Given the description of an element on the screen output the (x, y) to click on. 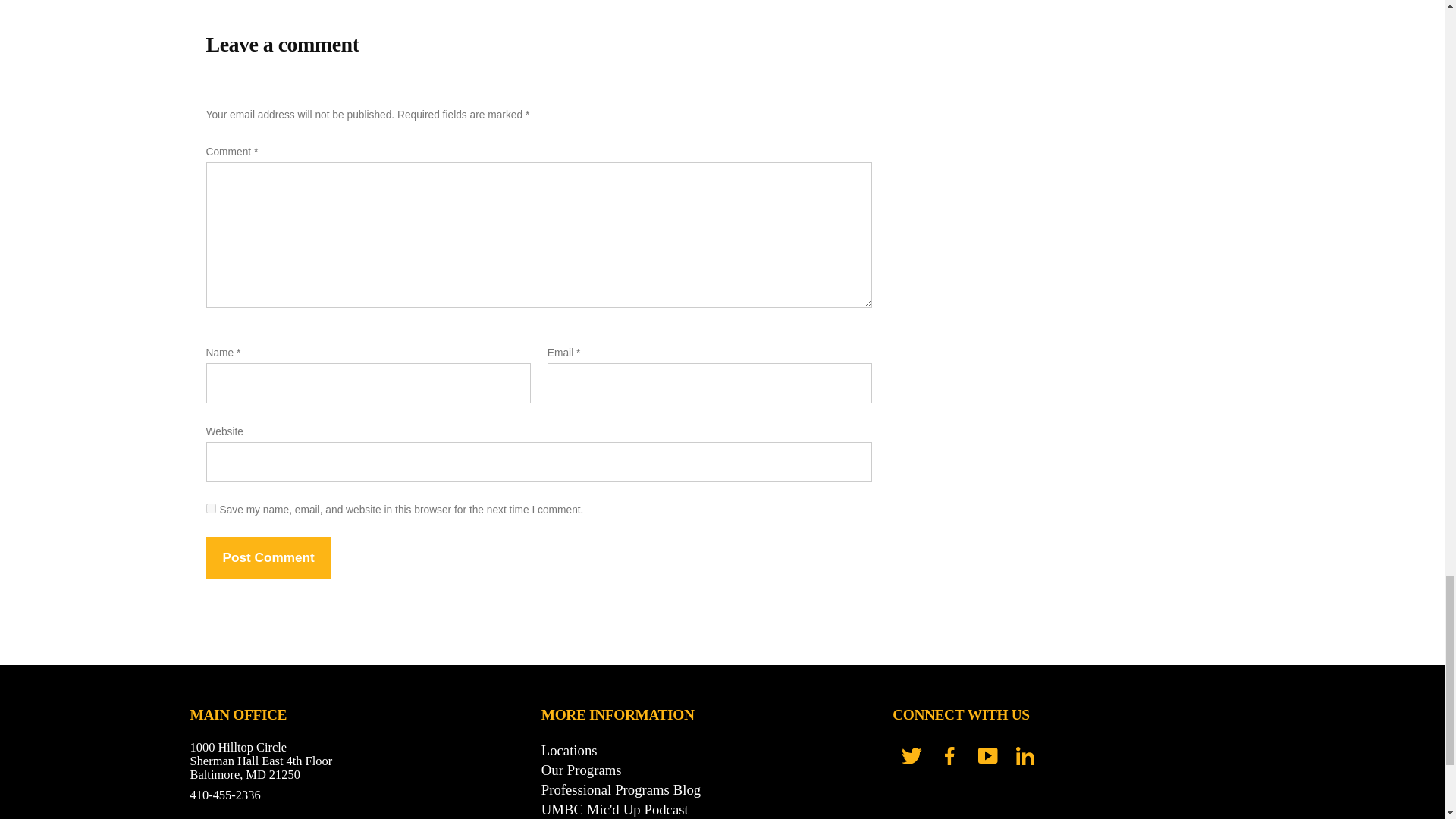
yes (210, 508)
Post Comment (268, 557)
